Given the description of an element on the screen output the (x, y) to click on. 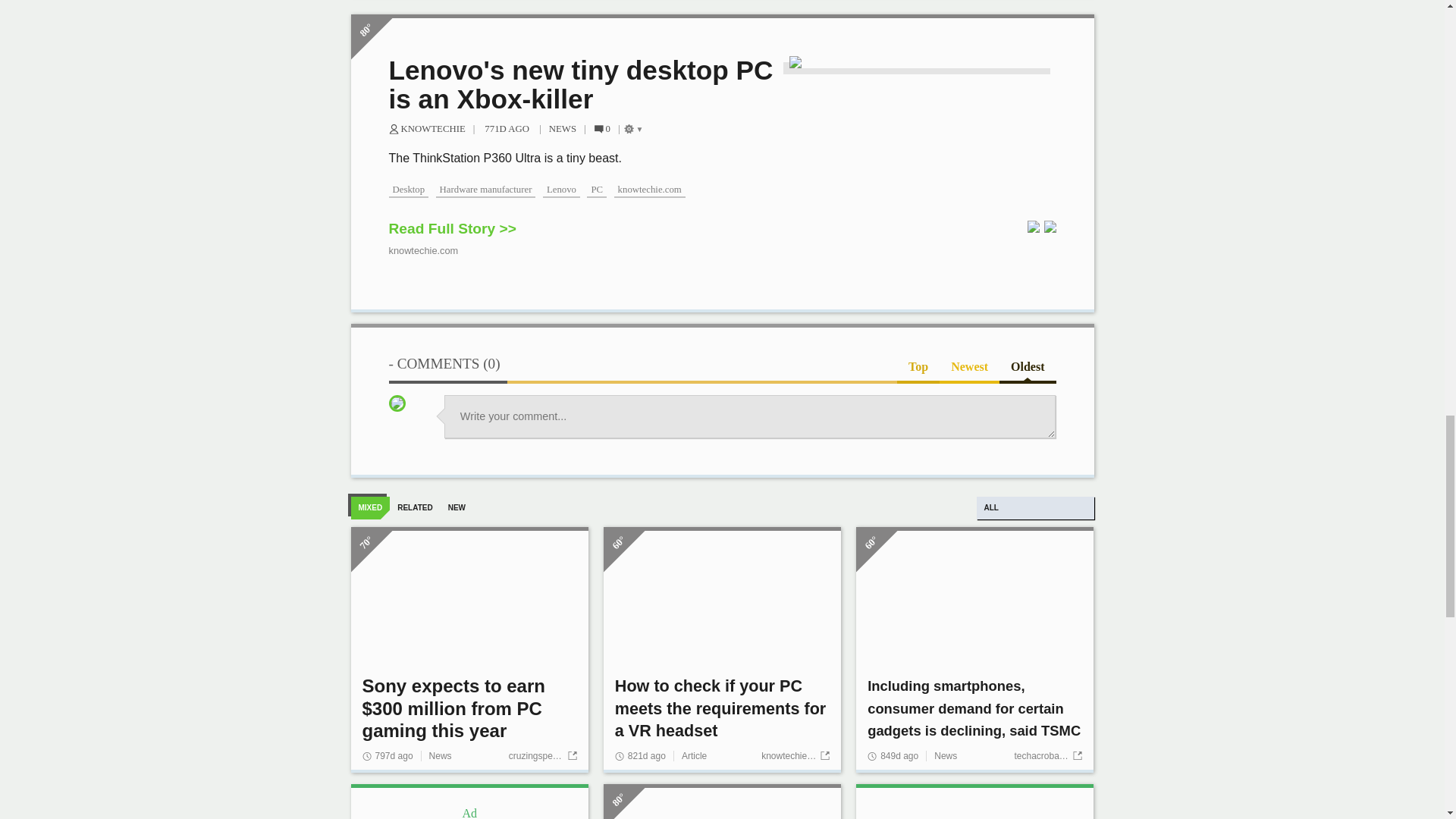
Go to source: cruzingspeed.com (542, 756)
Go to source: knowtechie.com (795, 756)
Go to source: techacrobat.com (1047, 756)
